Given the description of an element on the screen output the (x, y) to click on. 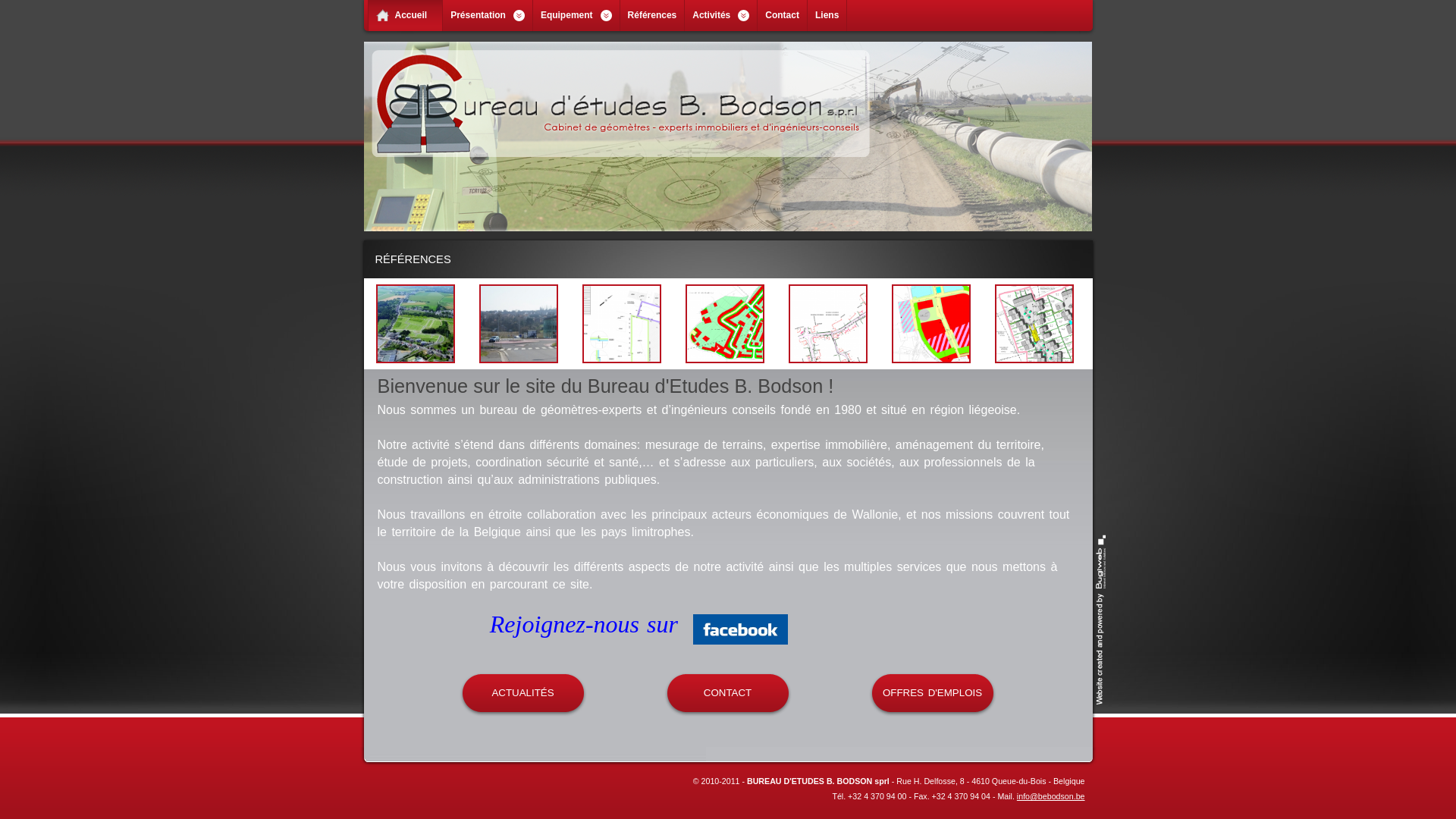
Liens Element type: text (826, 15)
CONTACT Element type: text (728, 693)
Accueil Element type: text (405, 15)
Contact Element type: text (781, 15)
info@bebodson.be Element type: text (1050, 795)
OFFRES D'EMPLOIS Element type: text (933, 693)
